Given the description of an element on the screen output the (x, y) to click on. 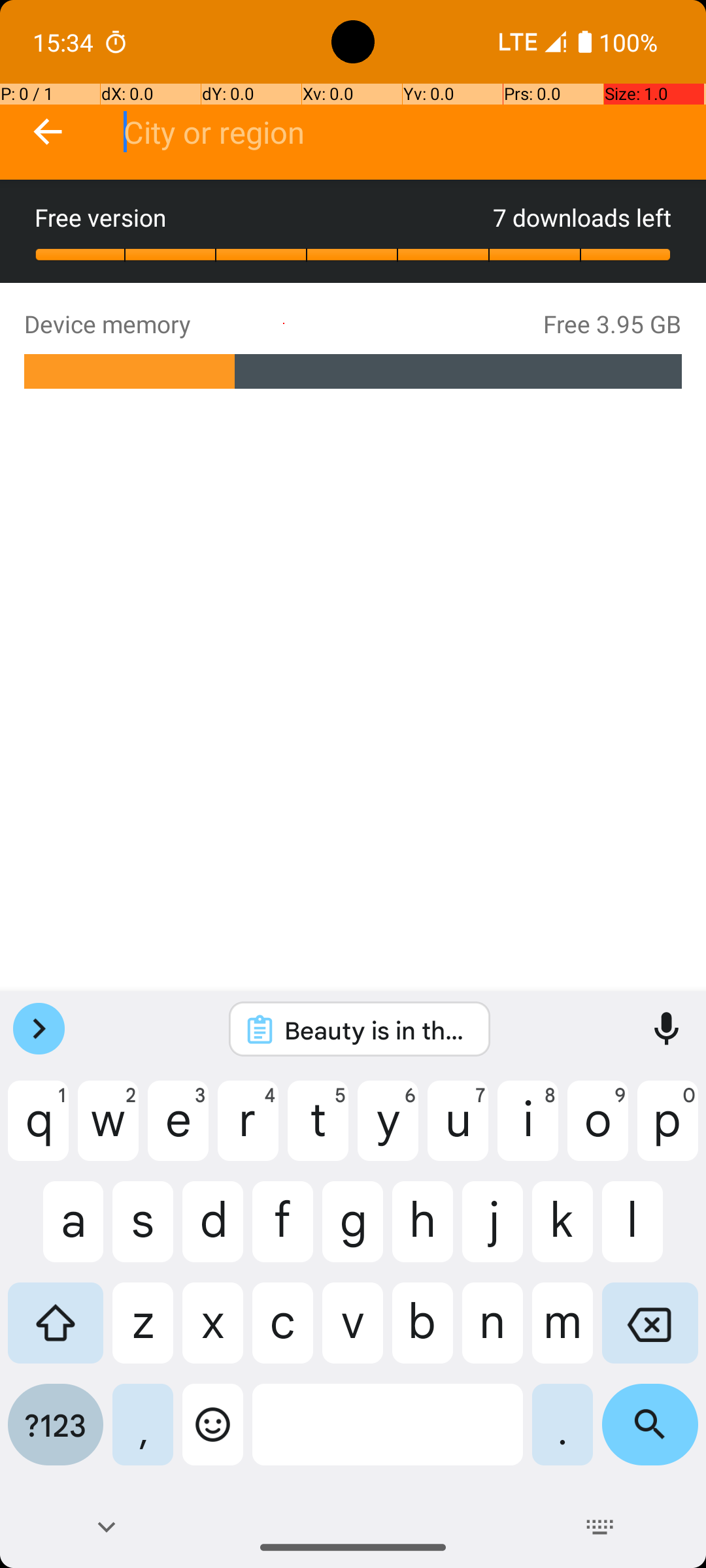
City or region Element type: android.widget.EditText (414, 131)
Device memory Element type: android.widget.TextView (283, 323)
Free 3.95 GB Element type: android.widget.TextView (612, 323)
Free version Element type: android.widget.TextView (263, 216)
7 downloads left Element type: android.widget.TextView (581, 216)
Beauty is in the eye of the beholder. Element type: android.widget.TextView (376, 1029)
